Given the description of an element on the screen output the (x, y) to click on. 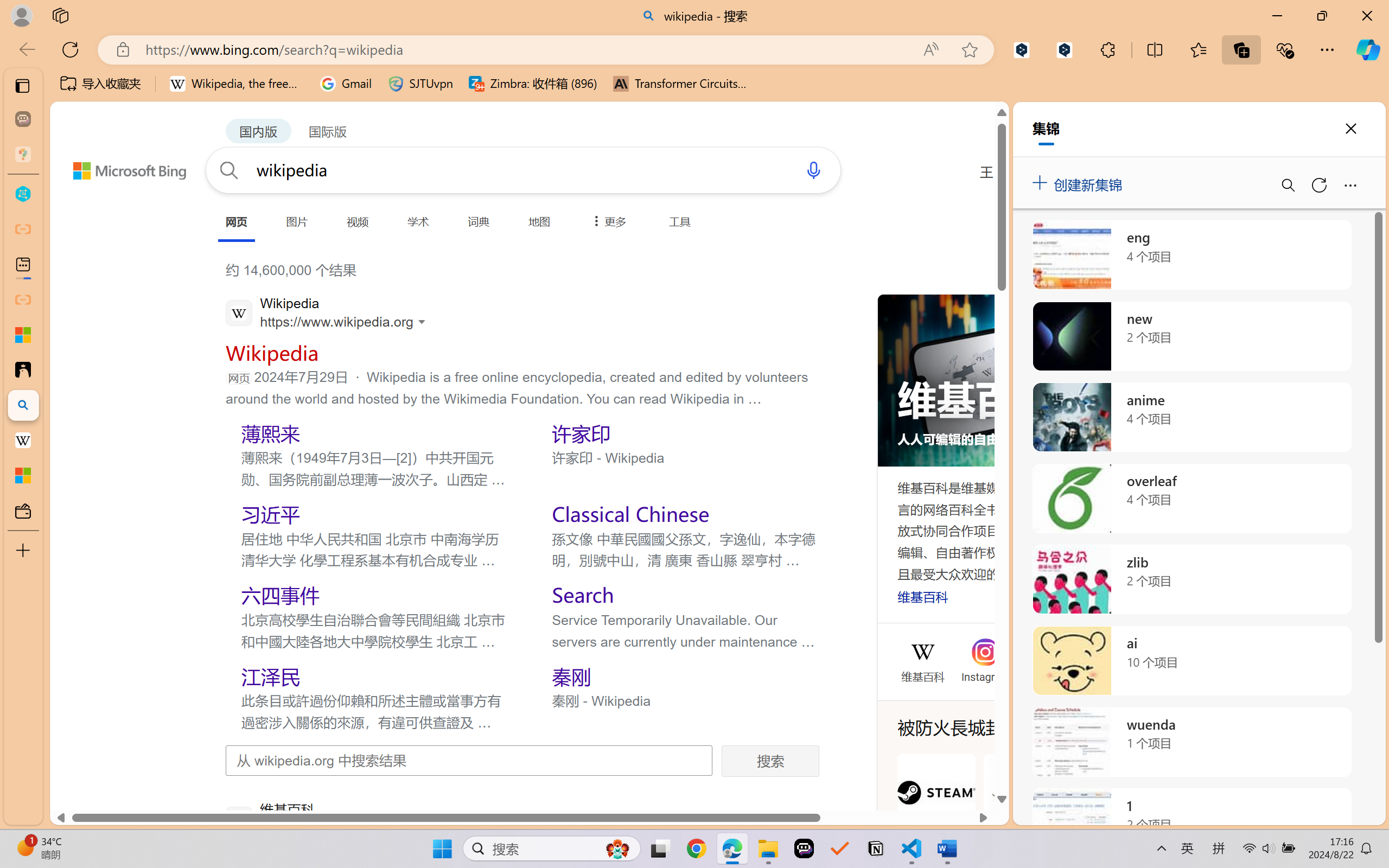
Wikipedia, the free encyclopedia (236, 83)
Copilot (Ctrl+Shift+.) (1368, 49)
